Given the description of an element on the screen output the (x, y) to click on. 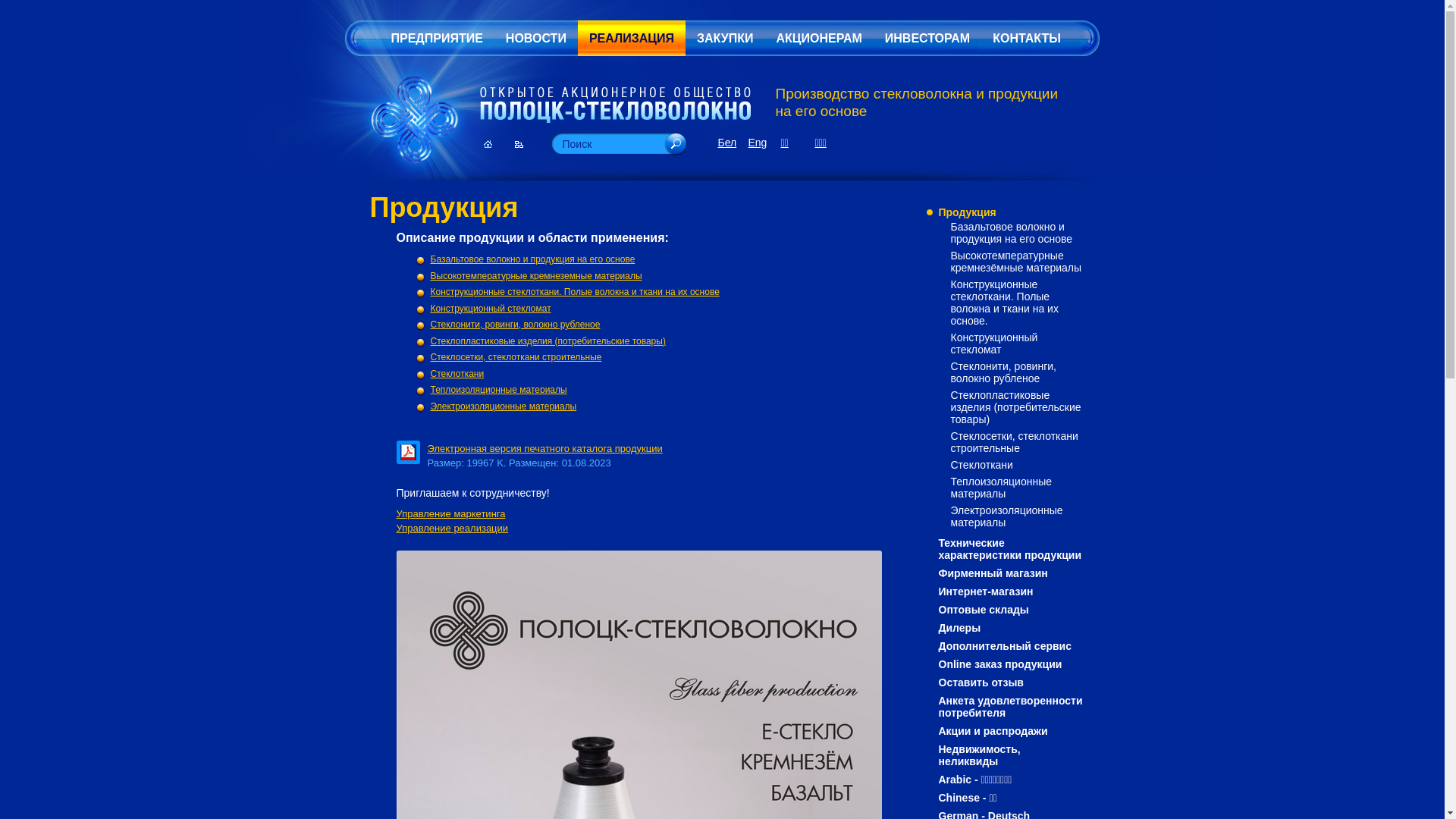
Eng Element type: text (756, 142)
